Given the description of an element on the screen output the (x, y) to click on. 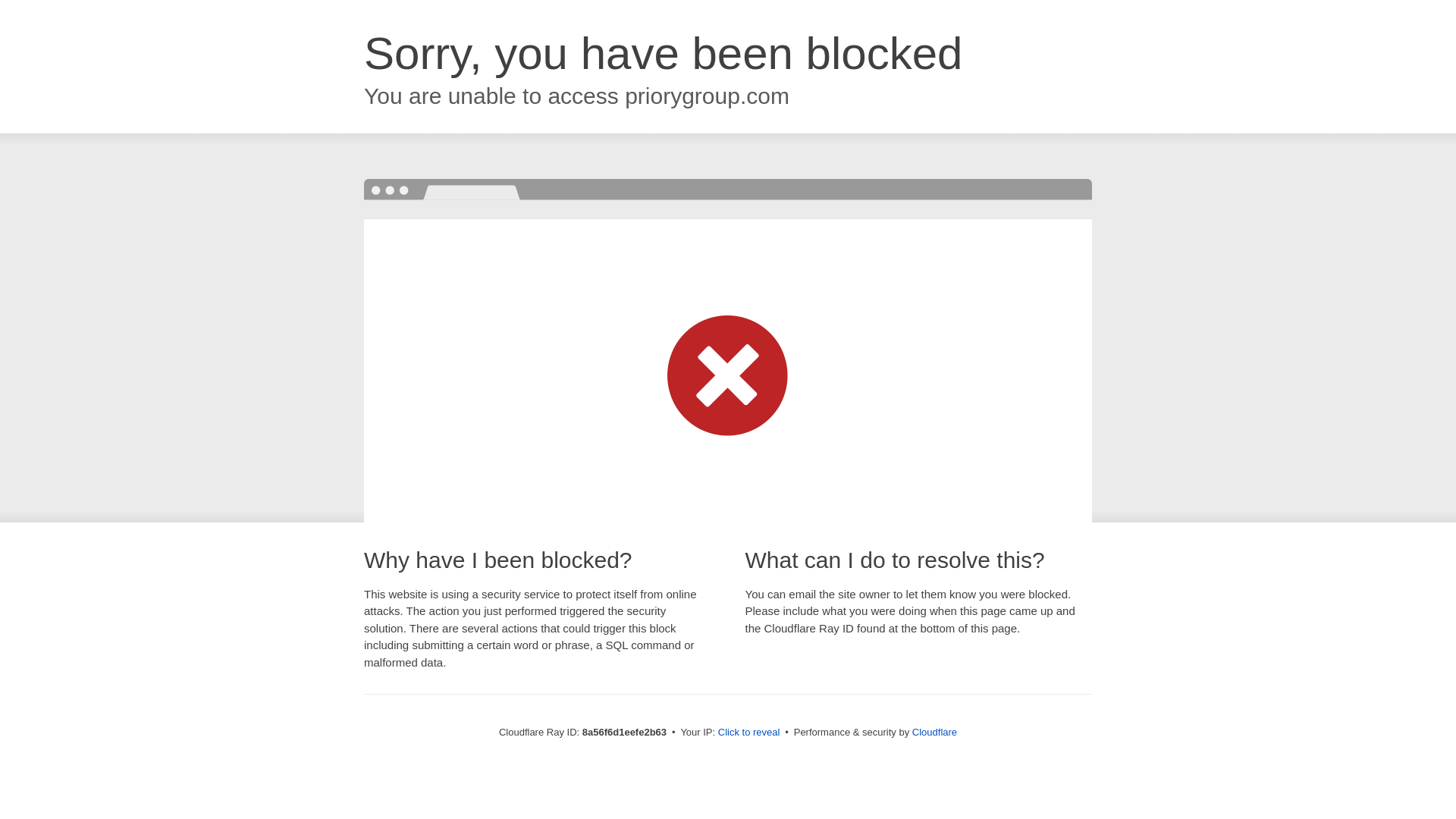
Click to reveal (748, 732)
Cloudflare (934, 731)
